Given the description of an element on the screen output the (x, y) to click on. 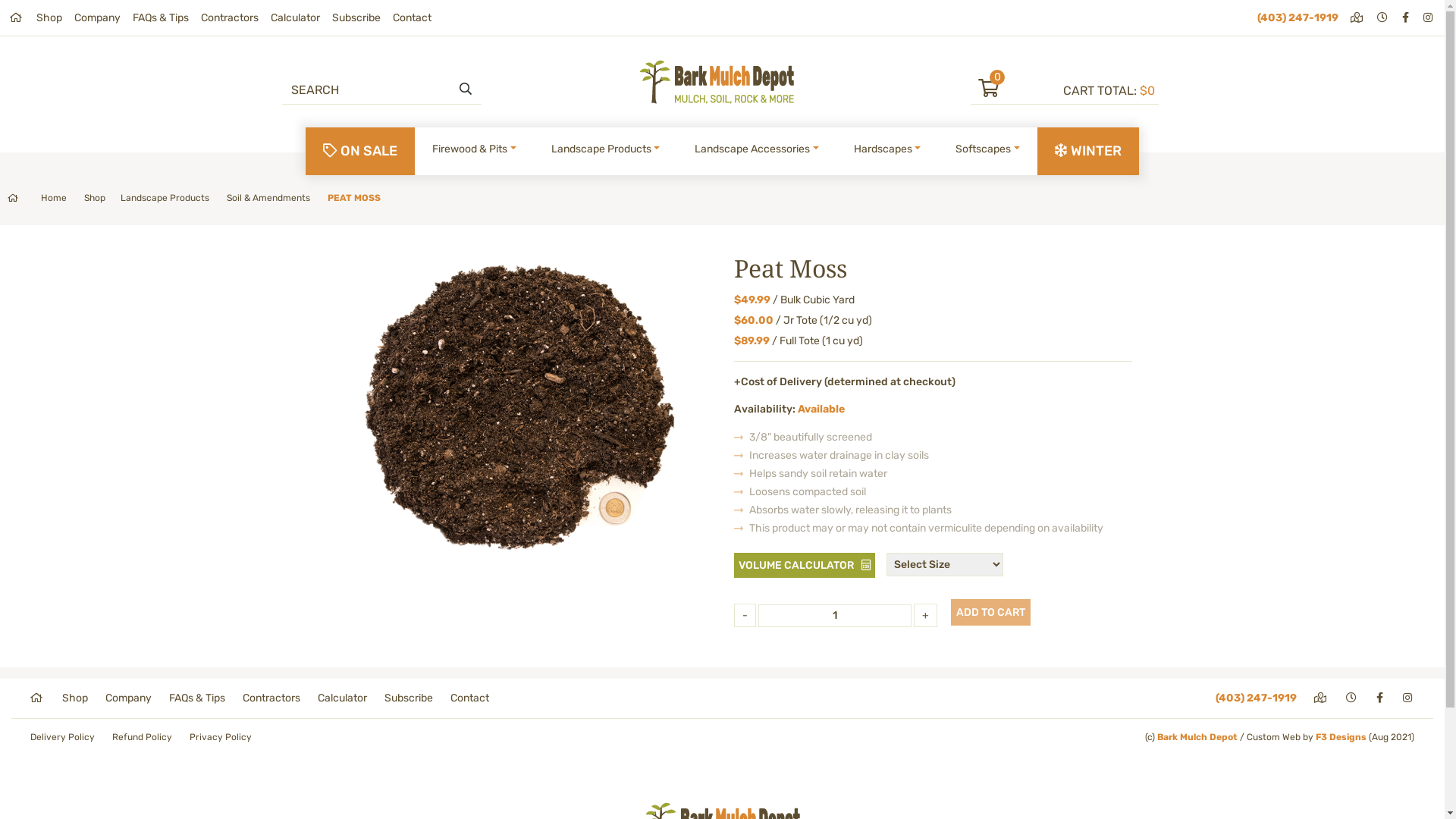
Landscape Products Element type: text (164, 197)
Shop Element type: text (49, 17)
ADD TO CART Element type: text (990, 612)
Calculator Element type: text (342, 697)
  Element type: text (1406, 17)
  Element type: text (1428, 17)
  Element type: text (1383, 17)
Soil & Amendments Element type: text (268, 197)
ON SALE Element type: text (359, 150)
Landscape Products Element type: text (605, 148)
Contact Element type: text (469, 697)
  Element type: text (1352, 697)
FAQs & Tips Element type: text (160, 17)
(403) 247-1919 Element type: text (1255, 697)
Firewood & Pits Element type: text (474, 148)
Landscape Accessories Element type: text (756, 148)
F3 Designs Element type: text (1340, 736)
  Element type: text (1357, 17)
Home Element type: text (36, 197)
VOLUME CALCULATOR Element type: text (804, 564)
Company Element type: text (97, 17)
Calculator Element type: text (295, 17)
Subscribe Element type: text (356, 17)
FAQs & Tips Element type: text (197, 697)
Contractors Element type: text (229, 17)
Subscribe Element type: text (408, 697)
WINTER Element type: text (1087, 150)
Softscapes Element type: text (987, 148)
Privacy Policy Element type: text (220, 736)
Delivery Policy Element type: text (62, 736)
  Element type: text (1380, 697)
(403) 247-1919 Element type: text (1297, 17)
Shop Element type: text (94, 197)
Bark Mulch Depot Element type: text (1197, 736)
Hardscapes Element type: text (887, 148)
Contractors Element type: text (271, 697)
Contact Element type: text (411, 17)
  Element type: text (37, 697)
  Element type: text (16, 17)
Company Element type: text (128, 697)
Refund Policy Element type: text (142, 736)
  Element type: text (1408, 697)
0 Element type: text (1016, 90)
  Element type: text (1321, 697)
Shop Element type: text (74, 697)
